Given the description of an element on the screen output the (x, y) to click on. 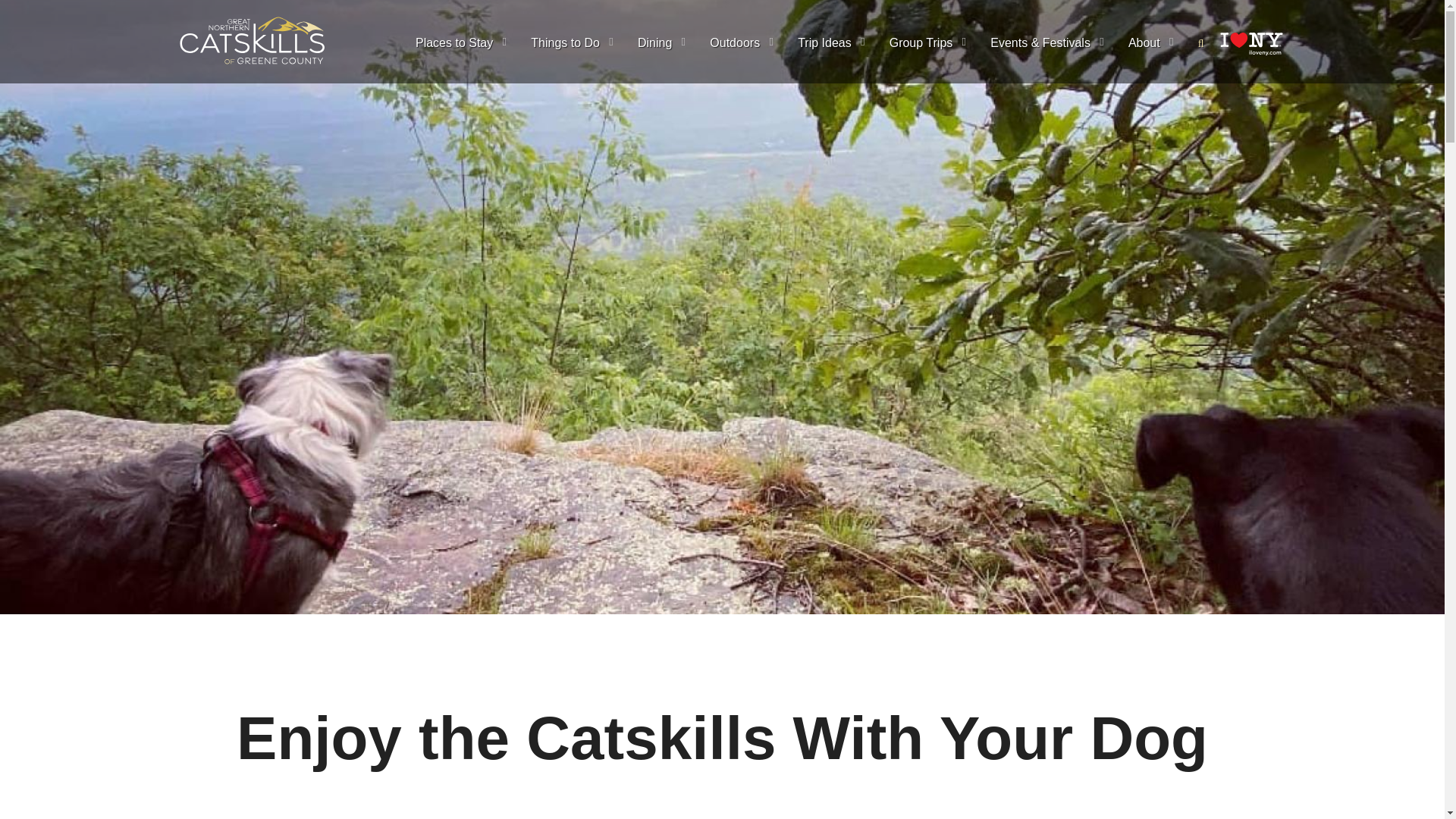
Things to Do (574, 43)
Places to Stay (463, 43)
Group Trips (930, 43)
Greene County Logo (251, 40)
